Given the description of an element on the screen output the (x, y) to click on. 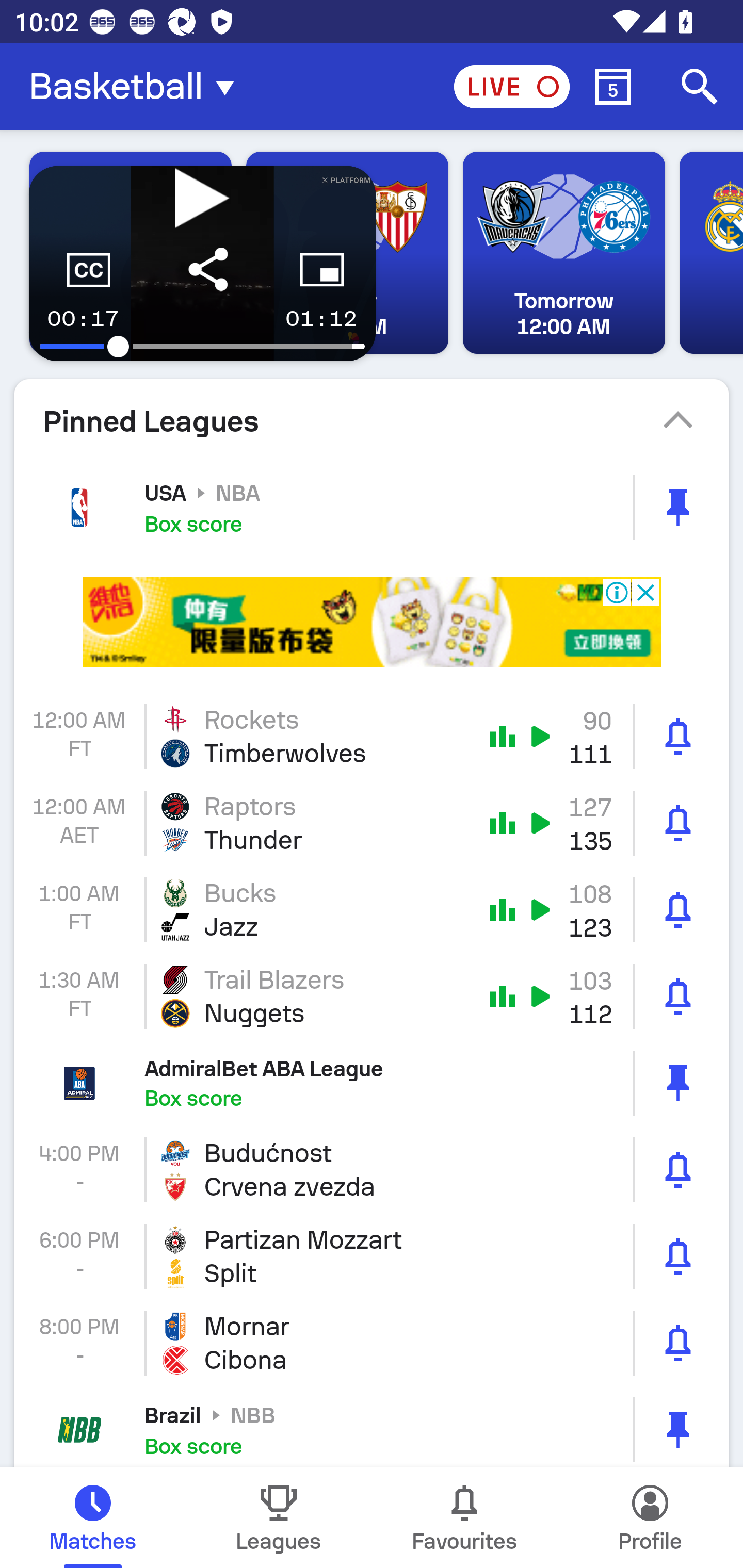
Basketball (137, 86)
Calendar (612, 86)
Search (699, 86)
Tomorrow
12:00 AM (563, 253)
Pinned Leagues (371, 421)
USA NBA Box score (371, 507)
12:00 AM FT Rockets Timberwolves 111 90 (371, 736)
12:00 AM AET Raptors Thunder 127 135 (371, 823)
1:00 AM FT Bucks Jazz 108 123 (371, 910)
1:30 AM FT Trail Blazers Nuggets 103 112 (371, 996)
AdmiralBet ABA League Box score (371, 1082)
4:00 PM - Budućnost Crvena zvezda (371, 1169)
6:00 PM - Partizan Mozzart Split (371, 1256)
8:00 PM - Mornar Cibona (371, 1342)
Brazil NBB Box score (371, 1426)
Leagues (278, 1517)
Favourites (464, 1517)
Profile (650, 1517)
